Given the description of an element on the screen output the (x, y) to click on. 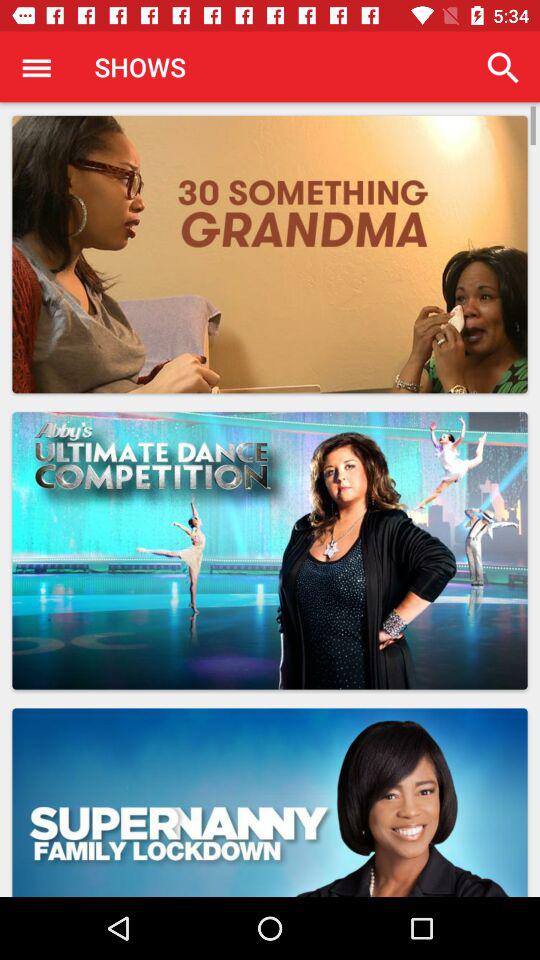
turn on app next to the shows icon (36, 67)
